Given the description of an element on the screen output the (x, y) to click on. 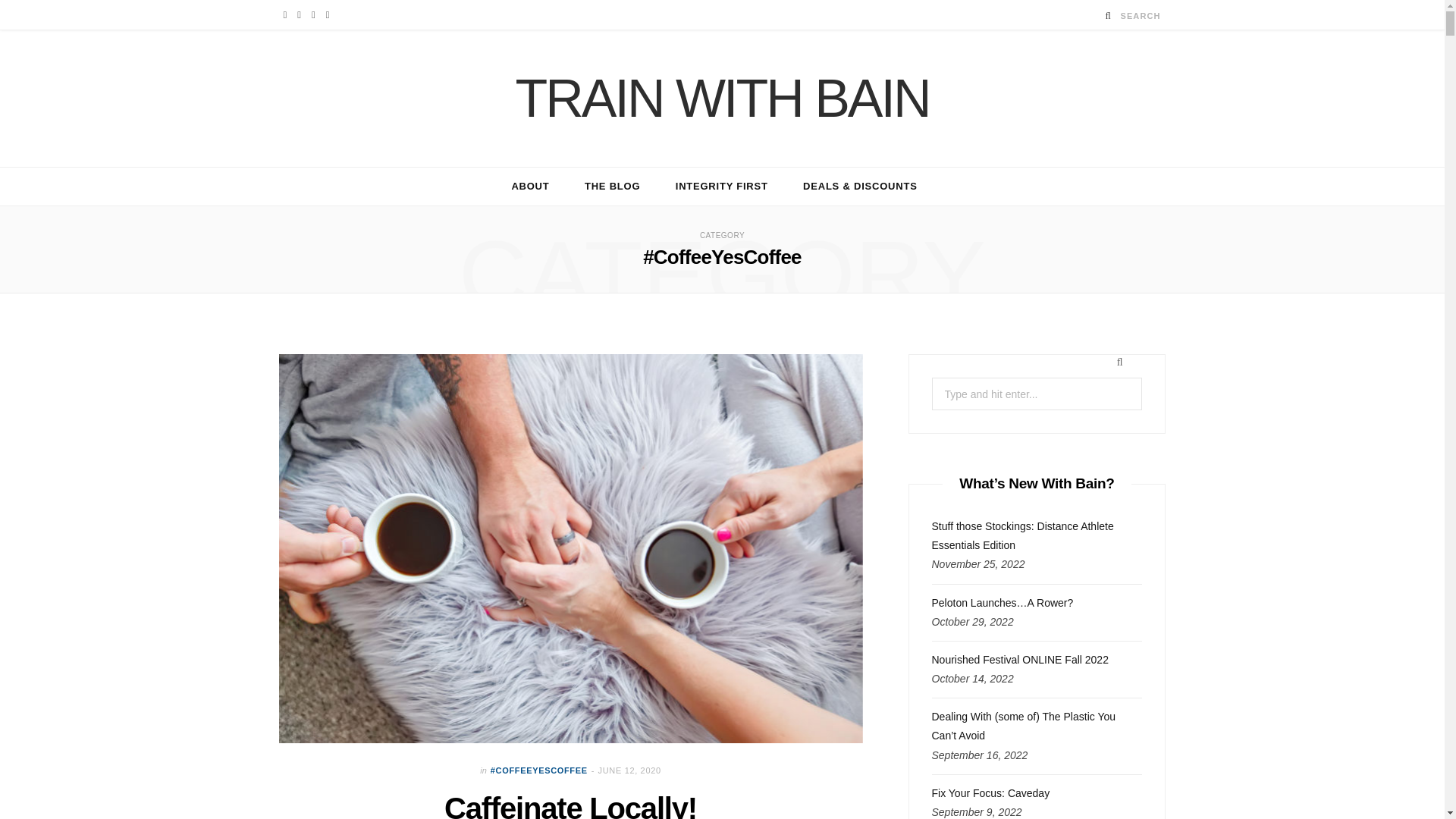
Caffeinate Locally! (570, 805)
JUNE 12, 2020 (629, 769)
TRAIN WITH BAIN (721, 98)
Train With Bain (721, 98)
Search for: (1036, 393)
THE BLOG (612, 186)
ABOUT (529, 186)
INTEGRITY FIRST (721, 186)
